Given the description of an element on the screen output the (x, y) to click on. 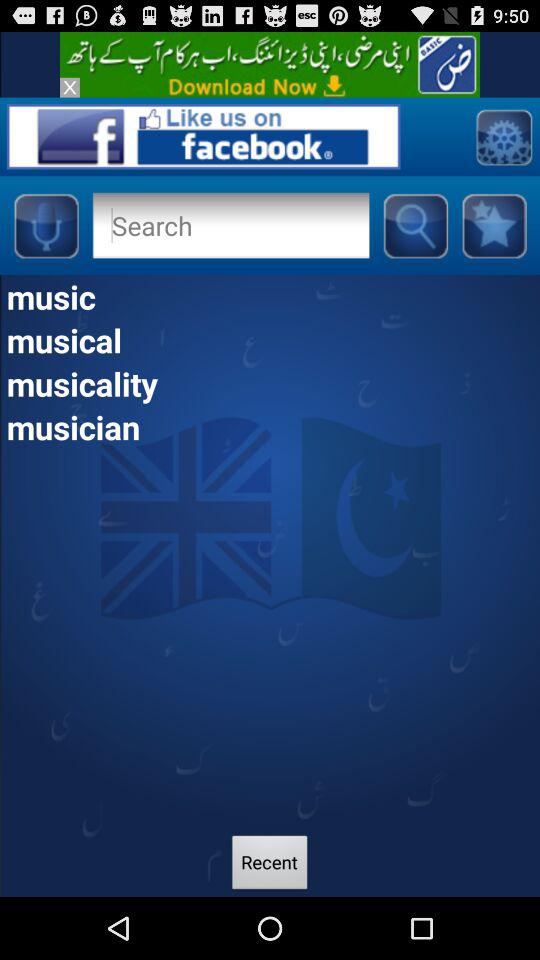
swipe until musician icon (270, 426)
